Given the description of an element on the screen output the (x, y) to click on. 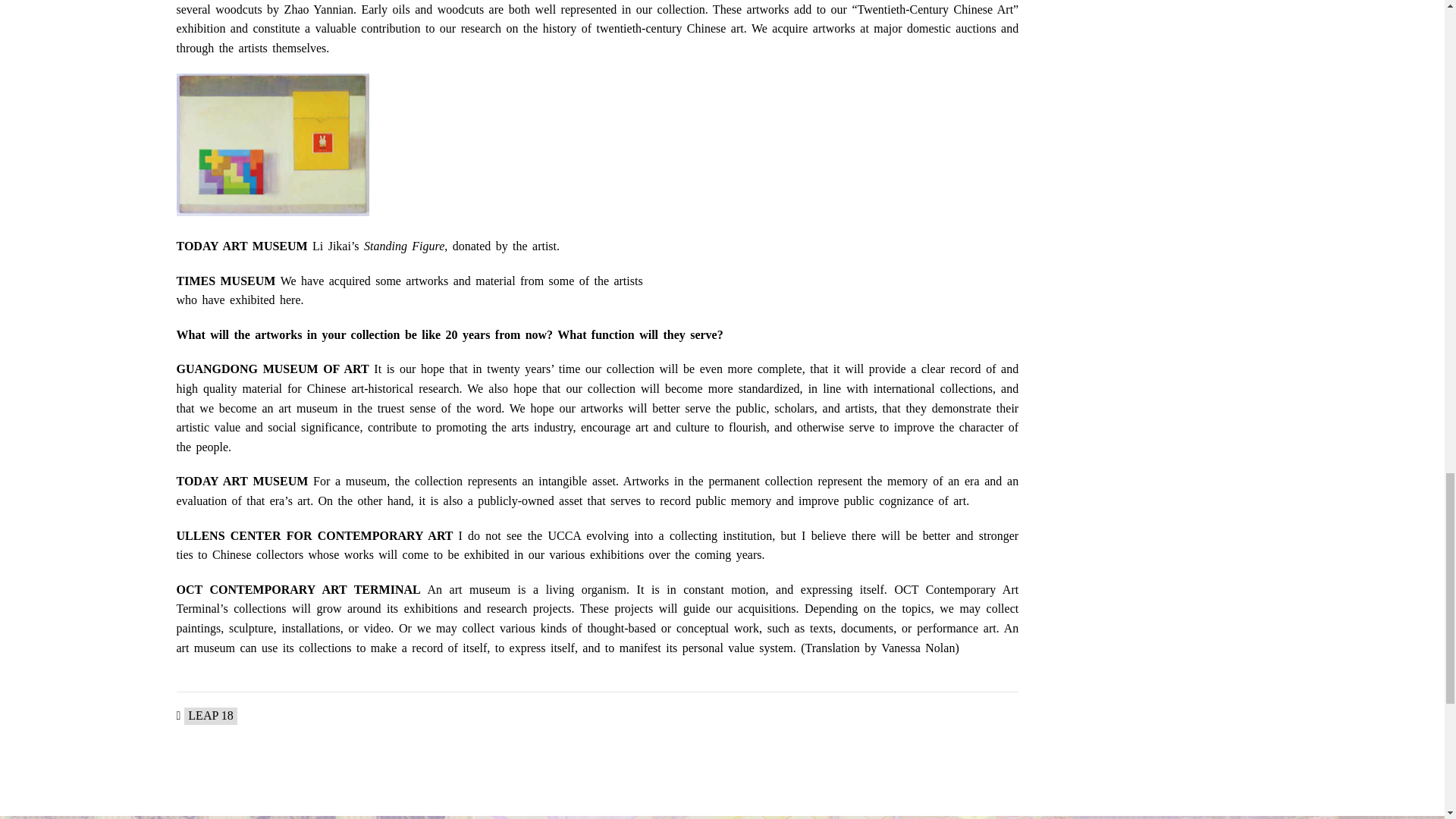
LEAP 18 (209, 715)
